Given the description of an element on the screen output the (x, y) to click on. 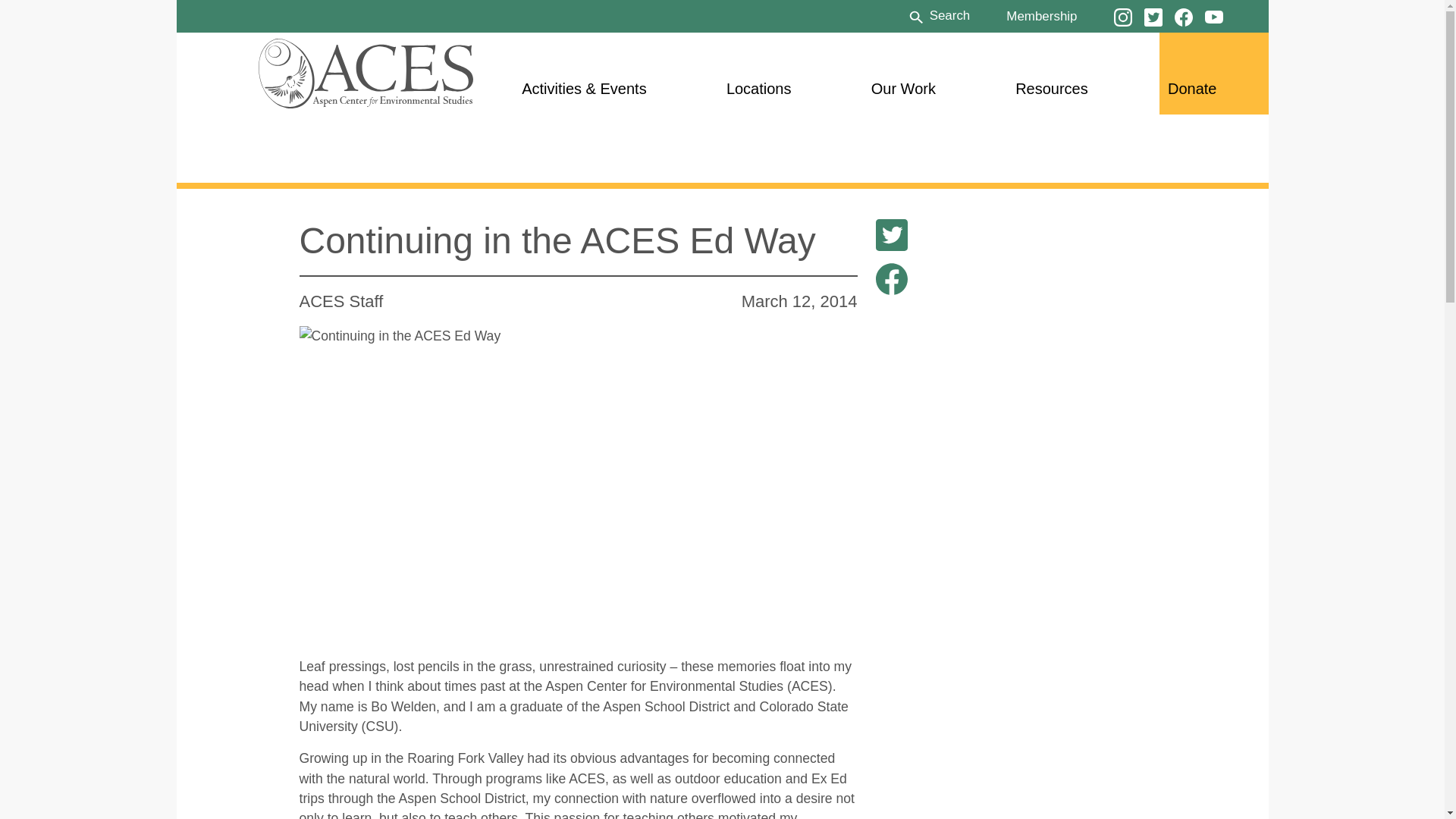
Resources (1050, 88)
Search (938, 15)
Our Work (903, 88)
Membership (1041, 15)
Locations (759, 88)
